Given the description of an element on the screen output the (x, y) to click on. 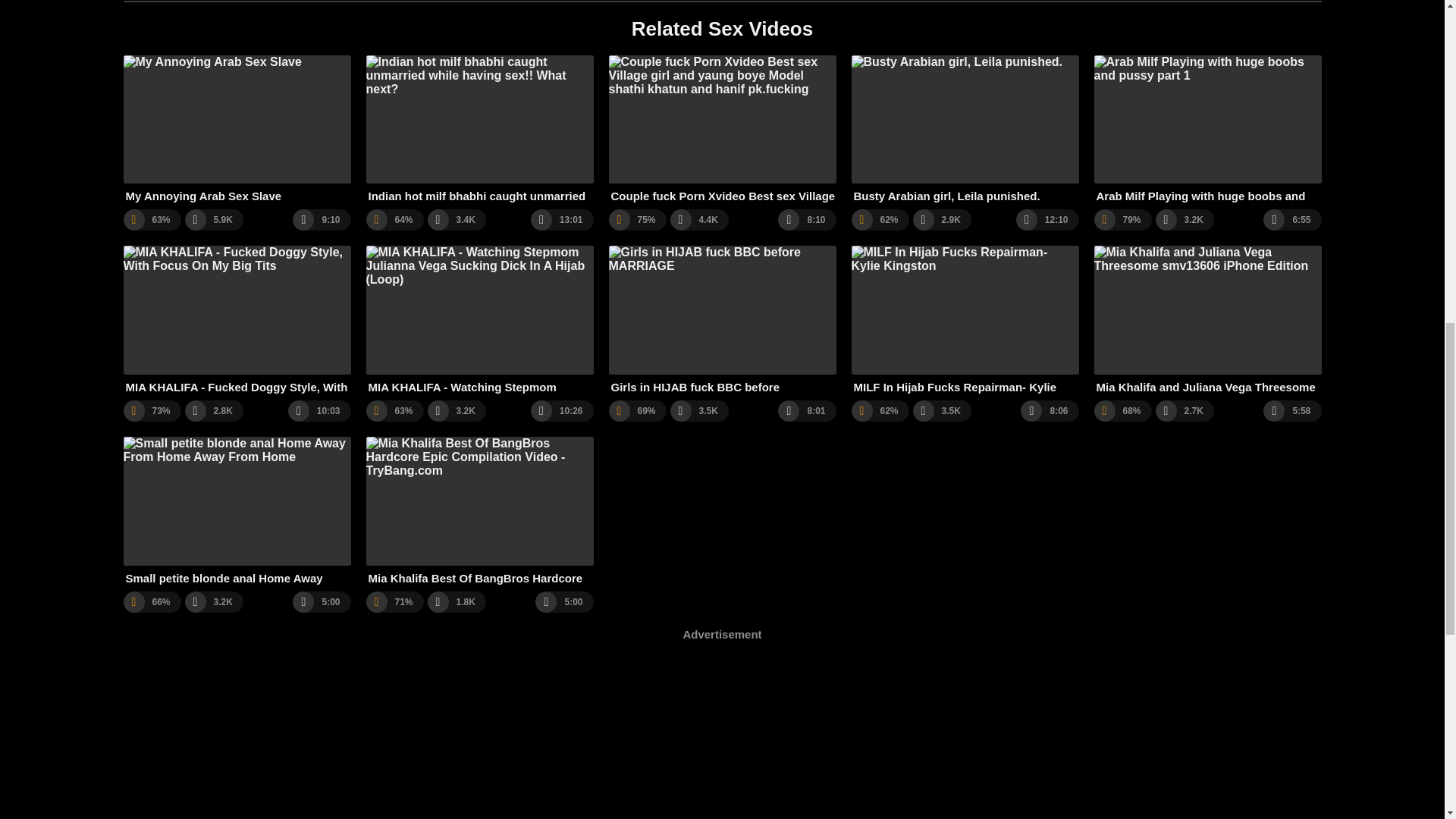
Girls in HIJAB fuck BBC before MARRIAGE (721, 319)
My Annoying Arab Sex Slave (236, 128)
My Annoying Arab Sex Slave (236, 128)
Girls in HIJAB fuck BBC before MARRIAGE (721, 319)
MILF In Hijab Fucks Repairman- Kylie Kingston (964, 319)
MILF In Hijab Fucks Repairman- Kylie Kingston (964, 319)
Small petite blonde anal Home Away From Home Away From Home (236, 511)
Busty Arabian girl, Leila punished. (964, 128)
